Given the description of an element on the screen output the (x, y) to click on. 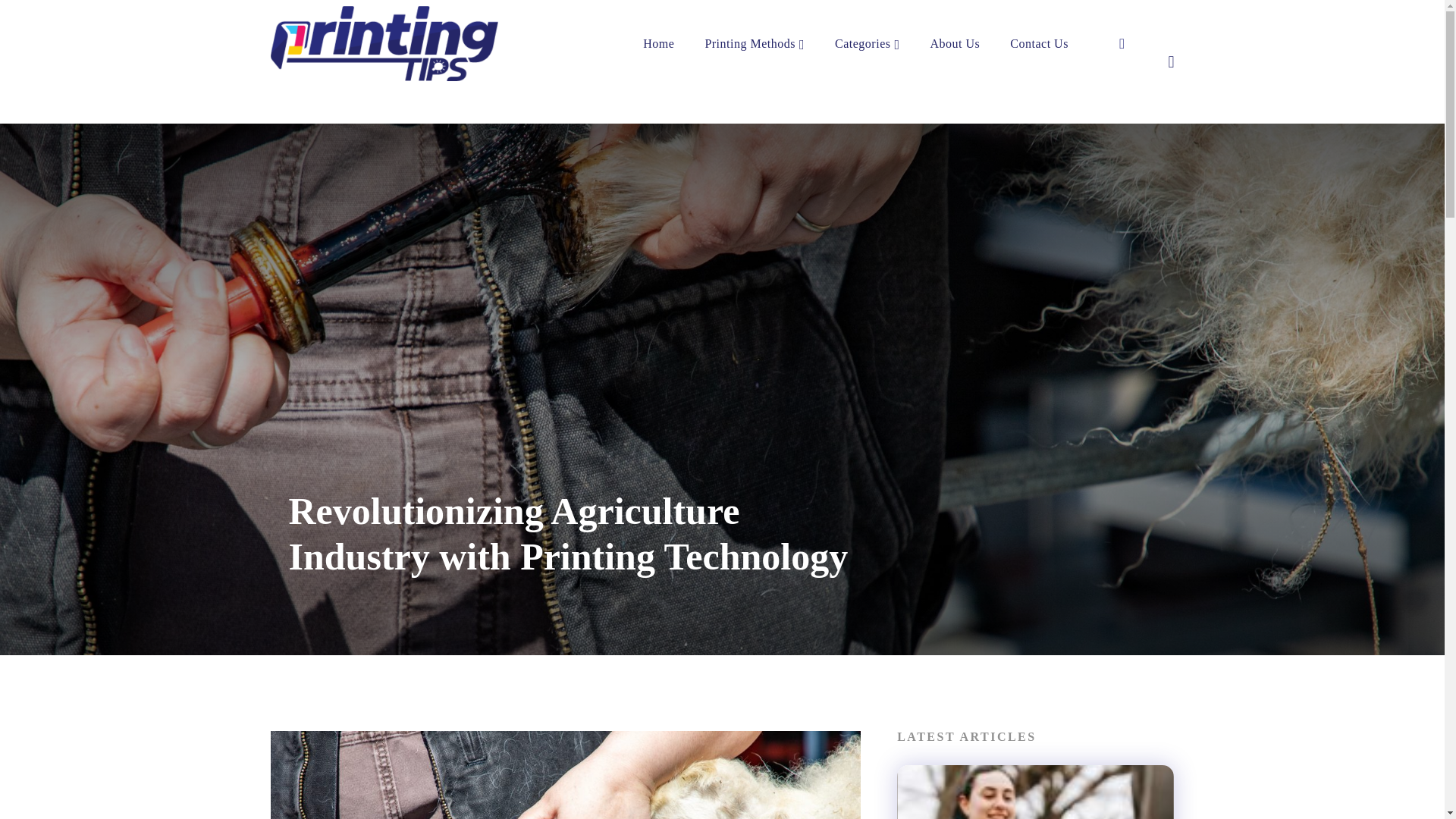
About Us (954, 42)
Categories (866, 42)
Printing Methods (754, 42)
Contact Us (1039, 42)
Home (658, 42)
